Given the description of an element on the screen output the (x, y) to click on. 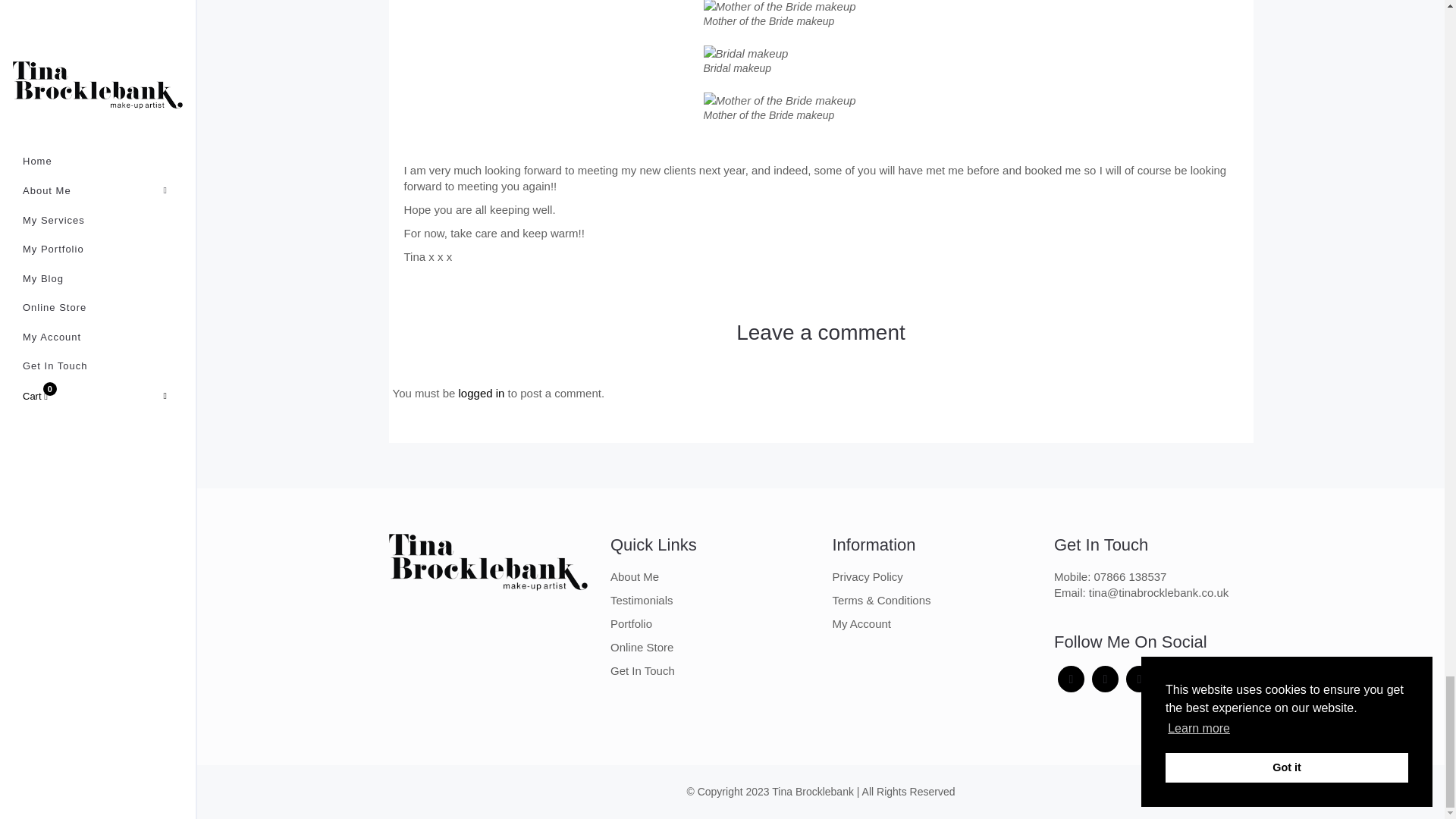
My Account (861, 623)
Online Store (641, 646)
Privacy Policy (867, 576)
Tina Brocklebank Facebook (1071, 678)
Get In Touch (642, 670)
Portfolio (631, 623)
logged in (481, 392)
Tina Brocklebank Logo (488, 561)
About Me (634, 576)
Tina Brocklebank Instagram (1105, 678)
Tina Brocklebank Pintrest (1139, 678)
07866 138537 (1130, 576)
Testimonials (641, 599)
